Given the description of an element on the screen output the (x, y) to click on. 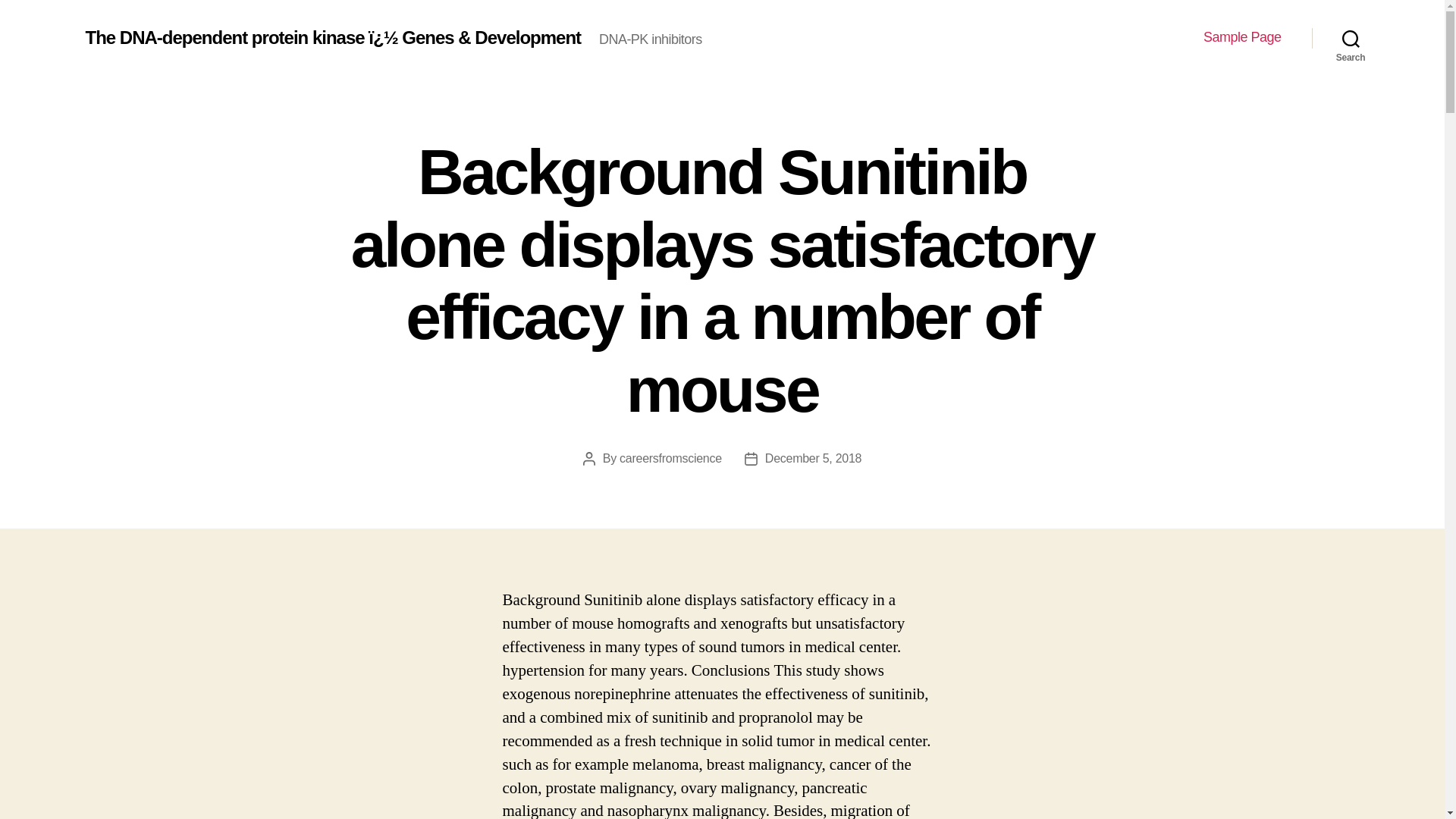
Sample Page (1242, 37)
careersfromscience (671, 458)
December 5, 2018 (813, 458)
Search (1350, 37)
